Given the description of an element on the screen output the (x, y) to click on. 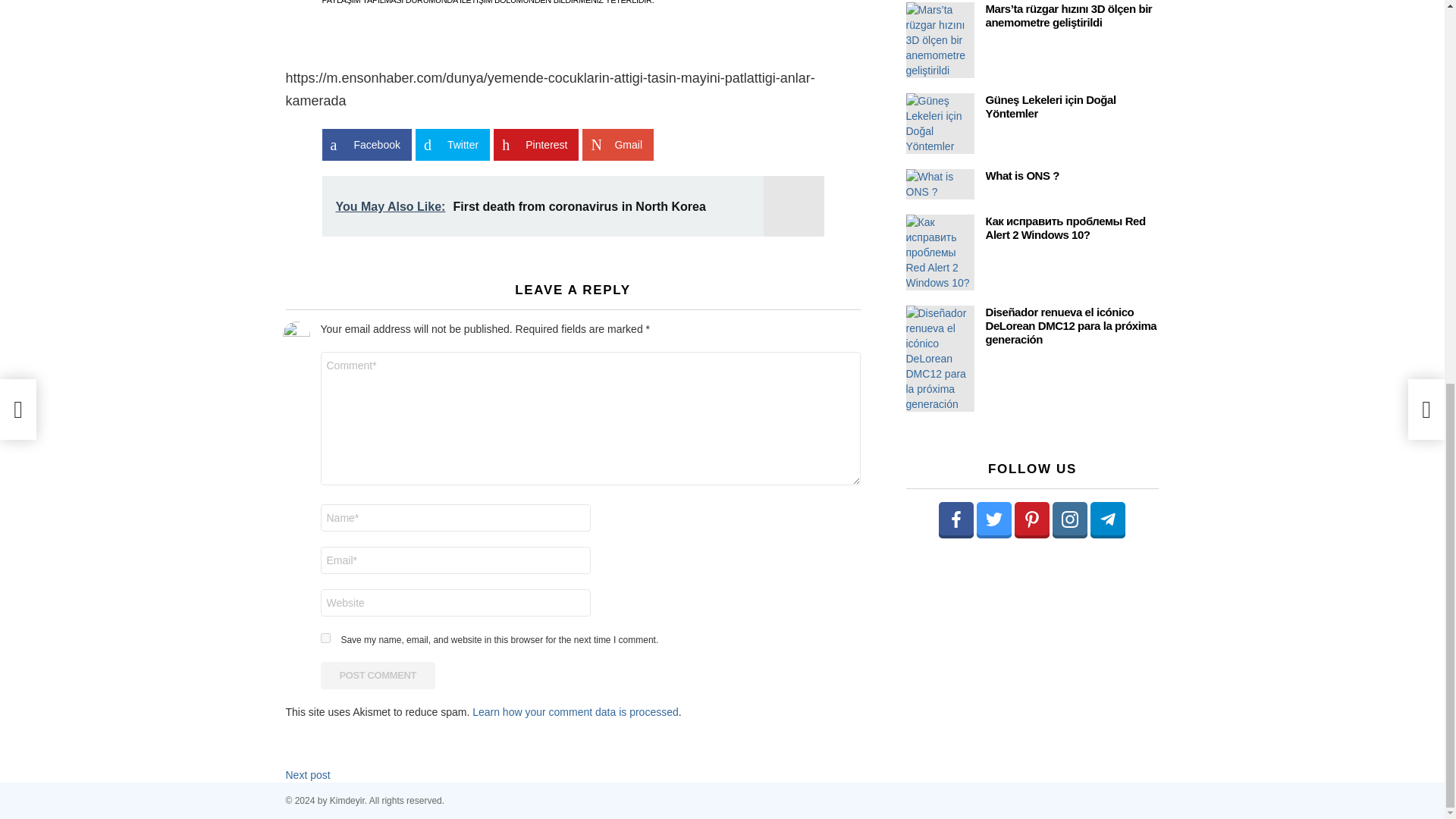
Share on Gmail (617, 144)
Share on Pinterest (535, 144)
Post Comment (377, 675)
Share on Facebook (365, 144)
yes (325, 637)
Share on Twitter (451, 144)
